Given the description of an element on the screen output the (x, y) to click on. 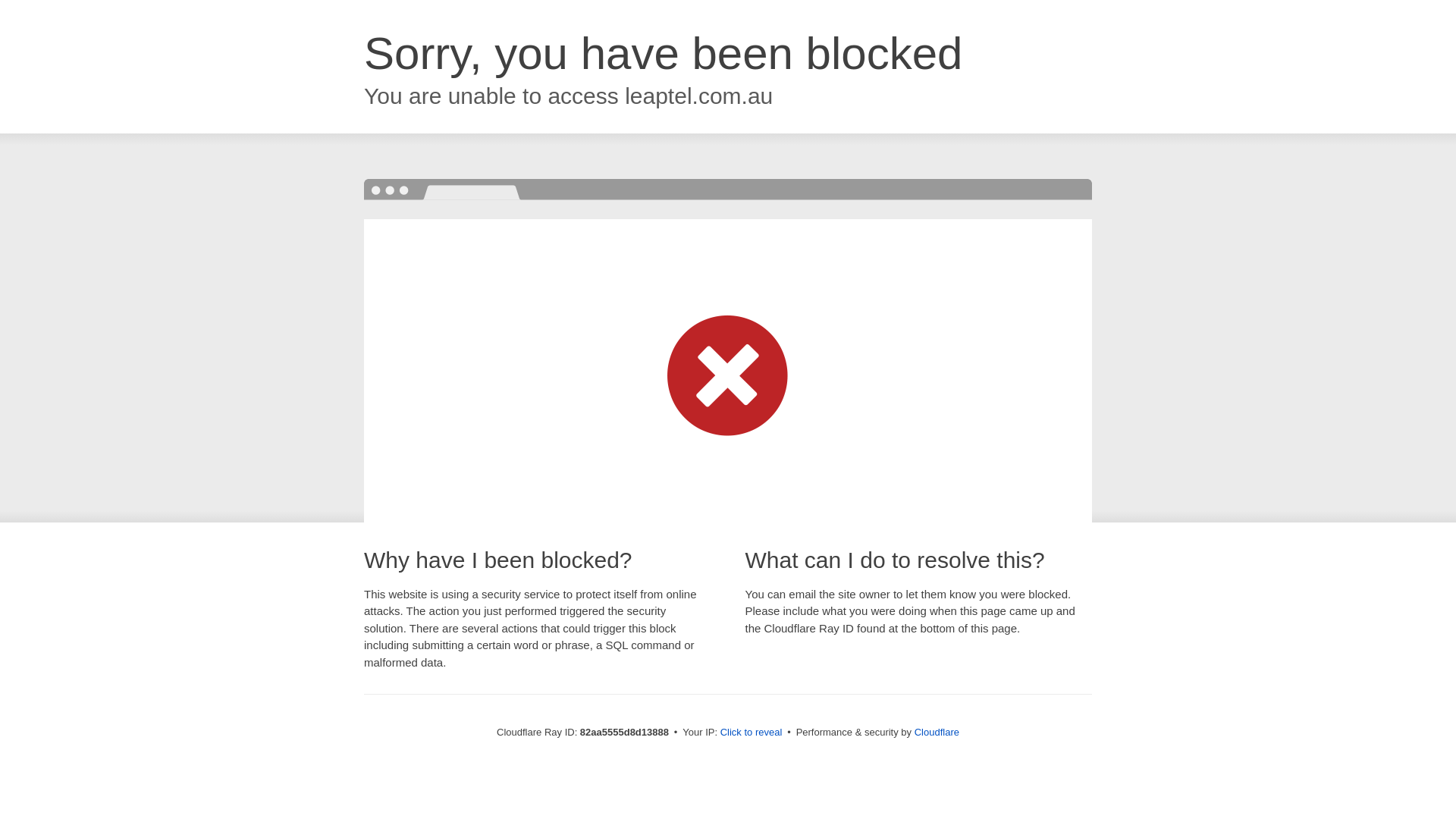
Click to reveal Element type: text (751, 732)
Cloudflare Element type: text (936, 731)
